Given the description of an element on the screen output the (x, y) to click on. 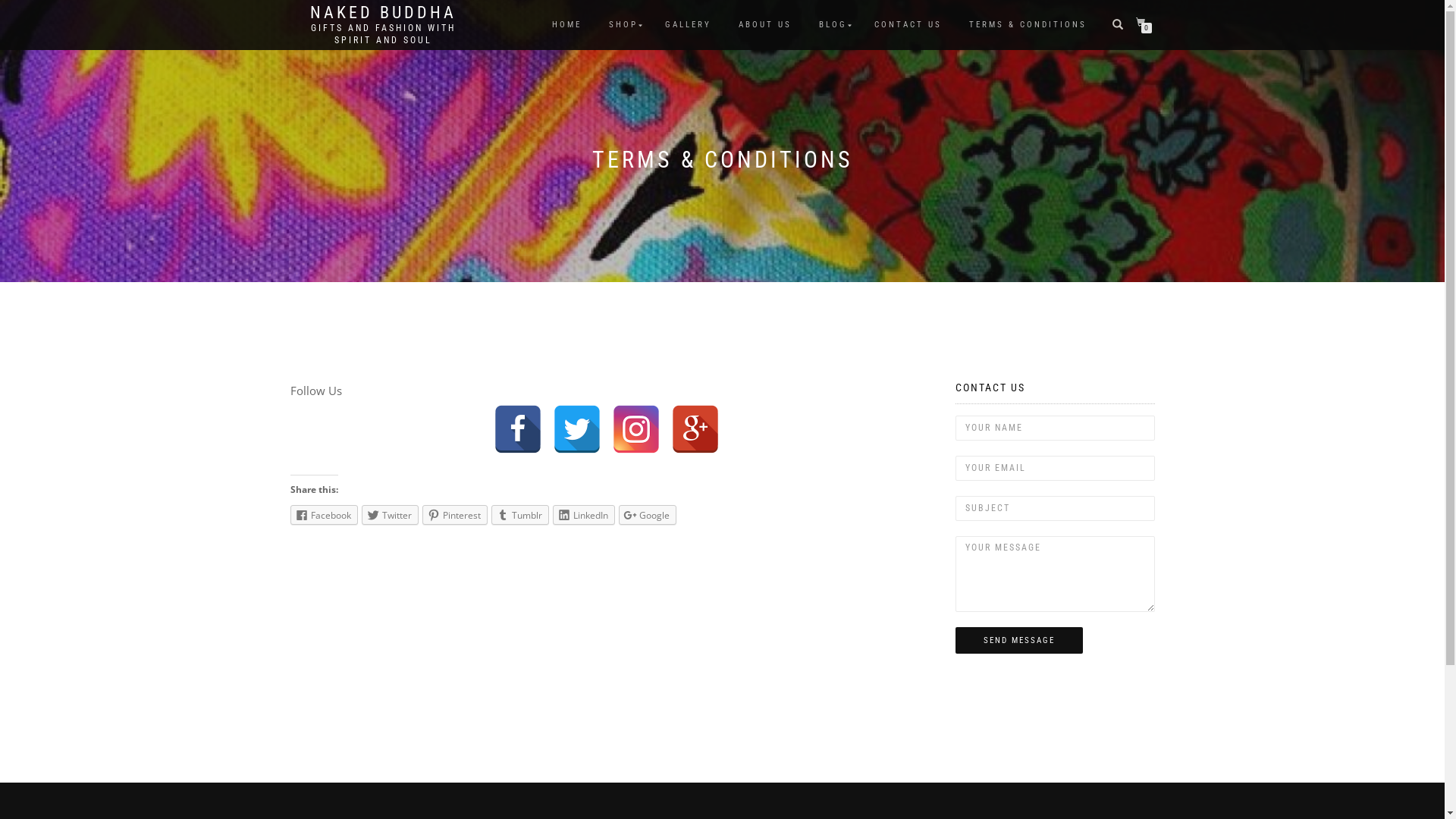
Instagram Element type: hover (636, 410)
LinkedIn Element type: text (583, 514)
Pinterest Element type: text (453, 514)
GALLERY Element type: text (687, 24)
Twitter Element type: hover (577, 410)
0 Element type: text (1143, 23)
ABOUT US Element type: text (764, 24)
Twitter Element type: text (388, 514)
Tumblr Element type: text (520, 514)
GIFTS AND FASHION WITH SPIRIT AND SOUL Element type: text (382, 33)
HOME Element type: text (565, 24)
NAKED BUDDHA Element type: text (382, 12)
SEND MESSAGE Element type: text (1018, 640)
Google+ Element type: hover (695, 410)
CONTACT US Element type: text (907, 24)
BLOG Element type: text (831, 24)
Facebook Element type: text (323, 514)
TERMS & CONDITIONS Element type: text (1027, 24)
Facebook Element type: hover (517, 410)
SHOP Element type: text (623, 24)
Google Element type: text (647, 514)
